Given the description of an element on the screen output the (x, y) to click on. 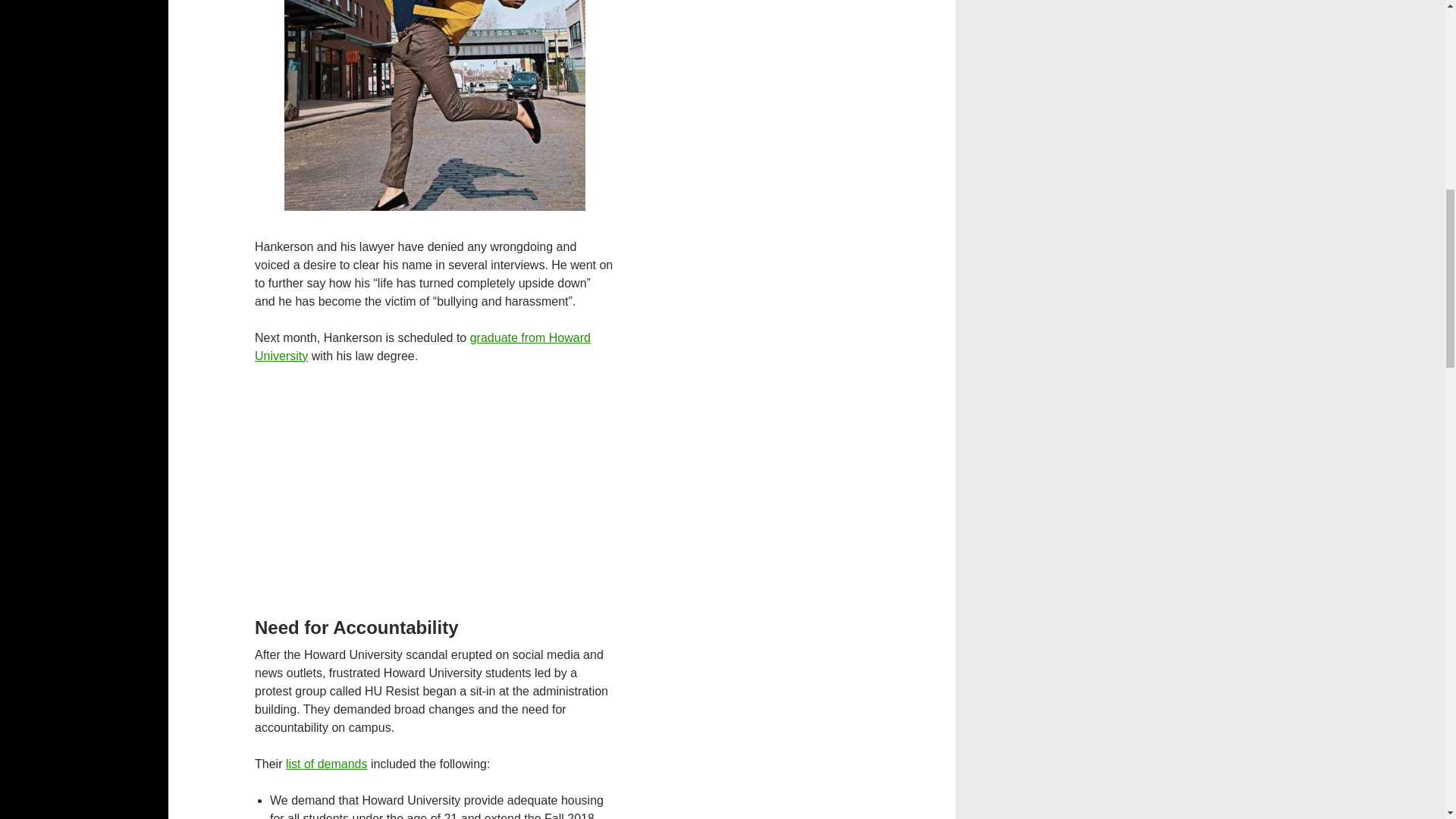
graduate from Howard University (422, 346)
Howard Support (422, 346)
list of demands (326, 763)
